Given the description of an element on the screen output the (x, y) to click on. 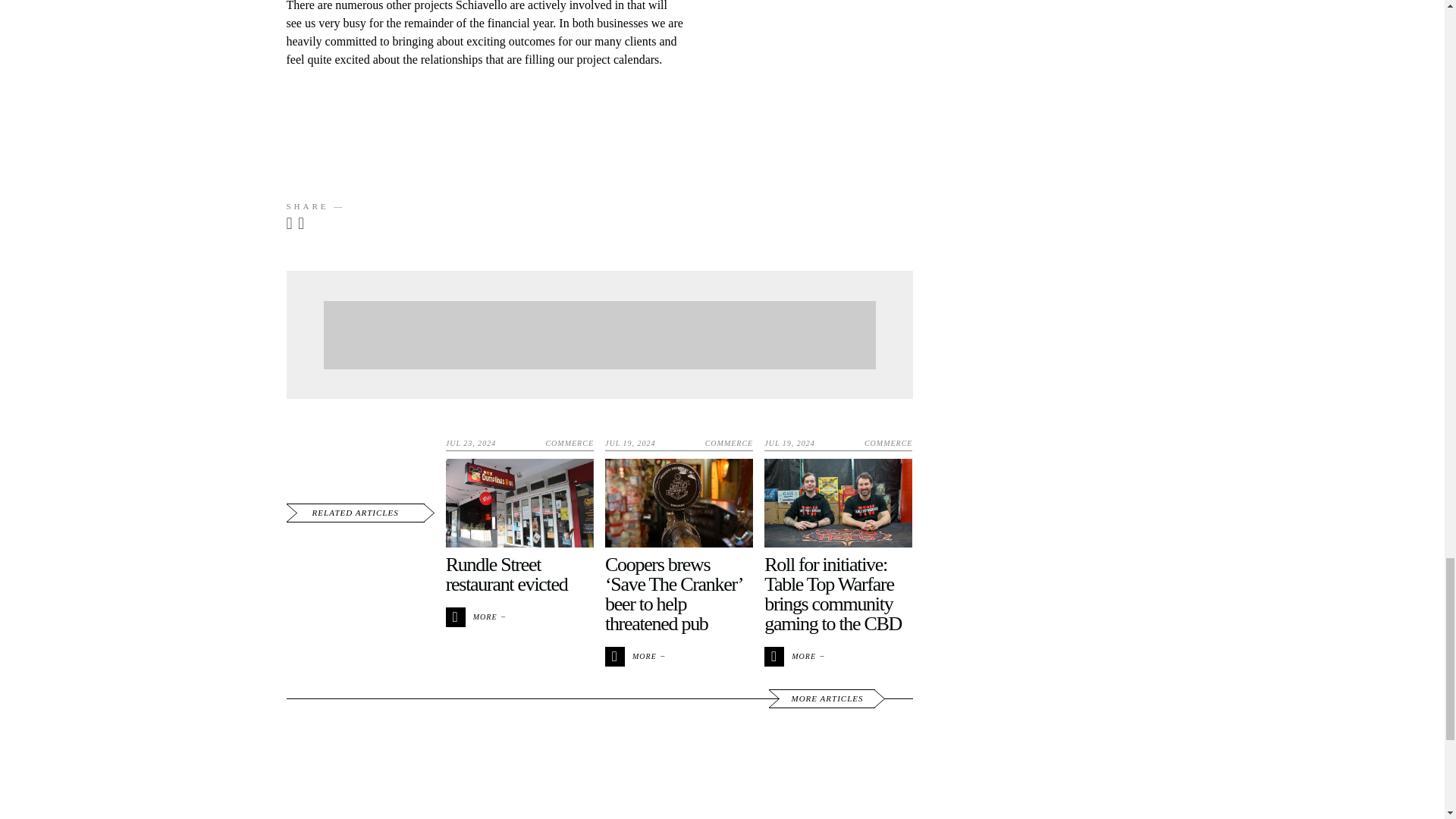
MORE ARTICLES (821, 698)
MORE (634, 655)
MORE (793, 655)
3rd party ad content (599, 335)
MORE (474, 616)
Rundle Street restaurant evicted (506, 574)
